Given the description of an element on the screen output the (x, y) to click on. 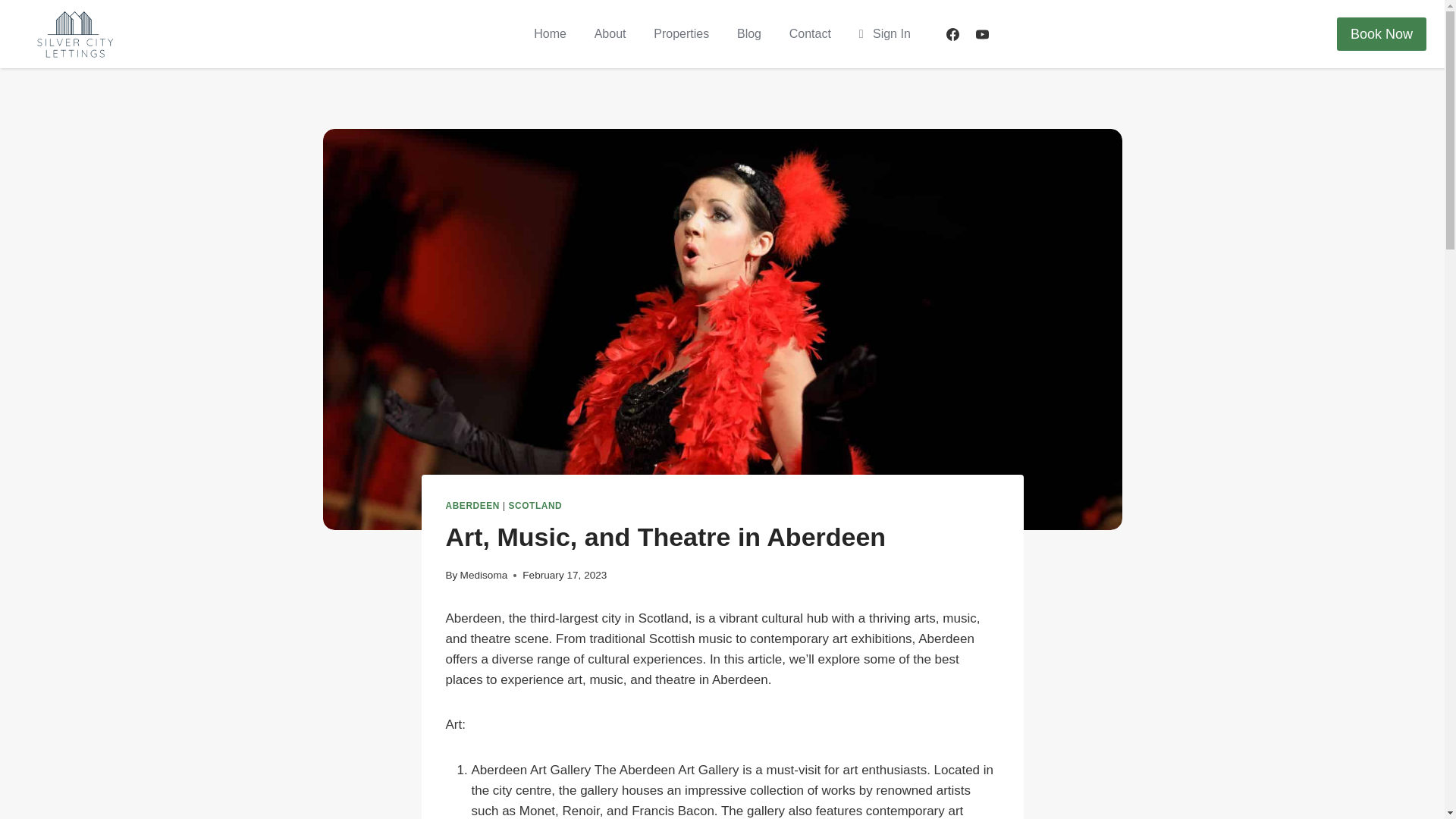
Properties (681, 34)
Sign In (884, 34)
Home (549, 34)
SCOTLAND (535, 505)
ABERDEEN (472, 505)
Contact (809, 34)
Blog (749, 34)
About (609, 34)
Book Now (1381, 33)
Medisoma (484, 574)
